Given the description of an element on the screen output the (x, y) to click on. 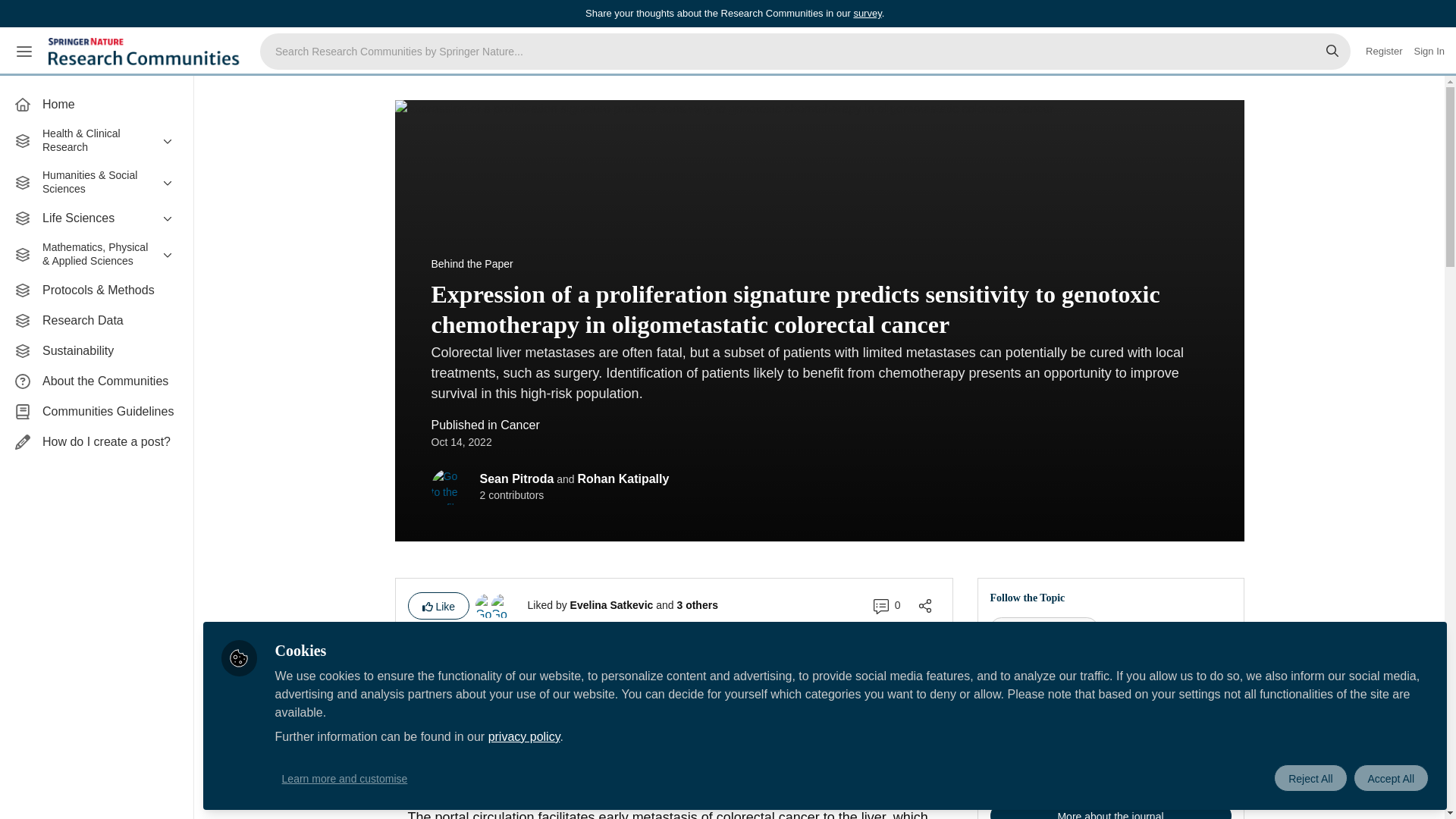
Sign In (1428, 51)
Menu (24, 51)
Home (96, 103)
survey (866, 12)
Register (1383, 51)
Life Sciences (96, 217)
Home (96, 103)
Research Communities by Springer Nature (146, 51)
Search (1332, 51)
Life Sciences (96, 217)
